Given the description of an element on the screen output the (x, y) to click on. 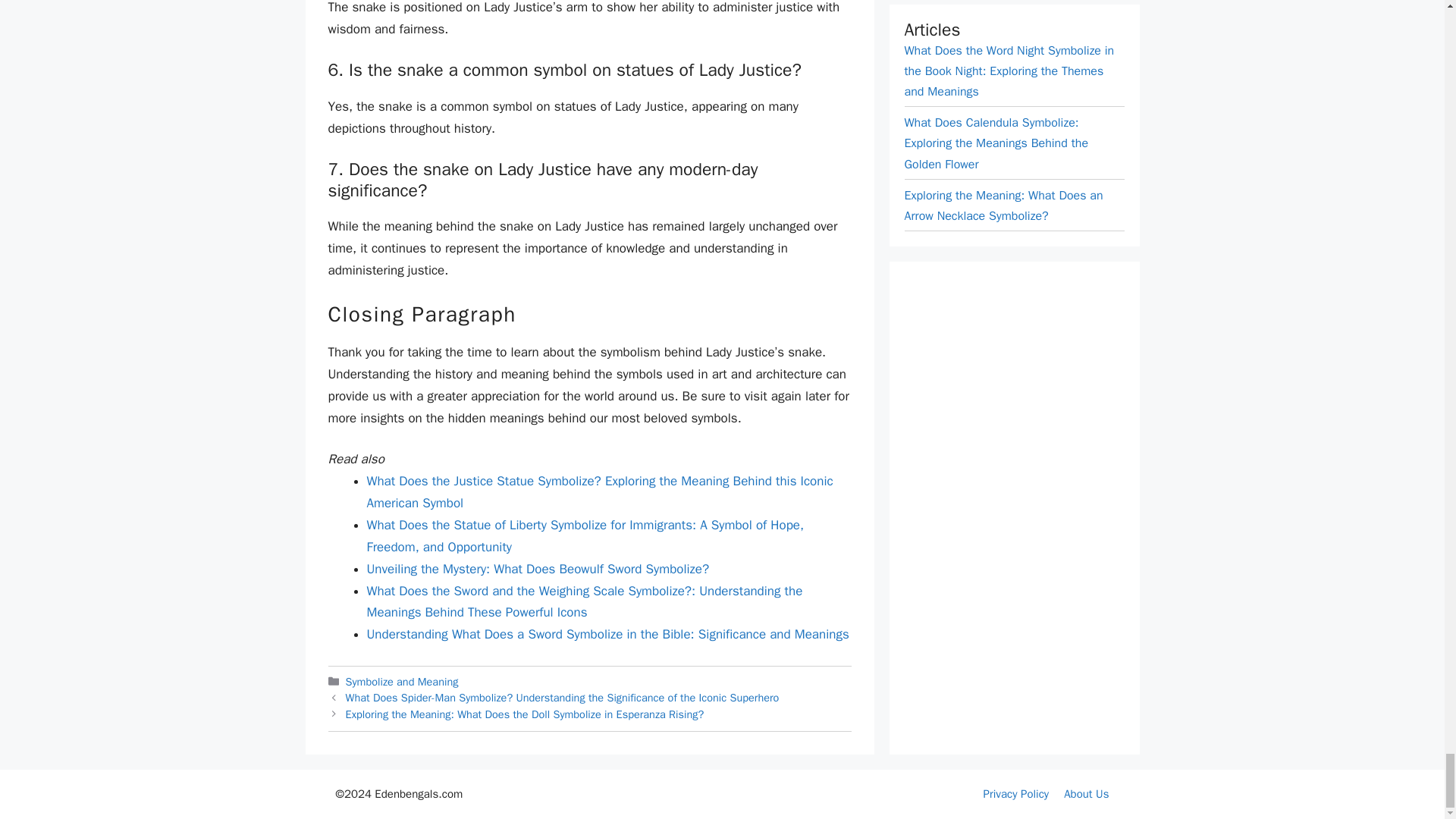
Privacy Policy (1016, 793)
Unveiling the Mystery: What Does Beowulf Sword Symbolize? (538, 569)
Symbolize and Meaning (402, 681)
About Us (1086, 793)
